Given the description of an element on the screen output the (x, y) to click on. 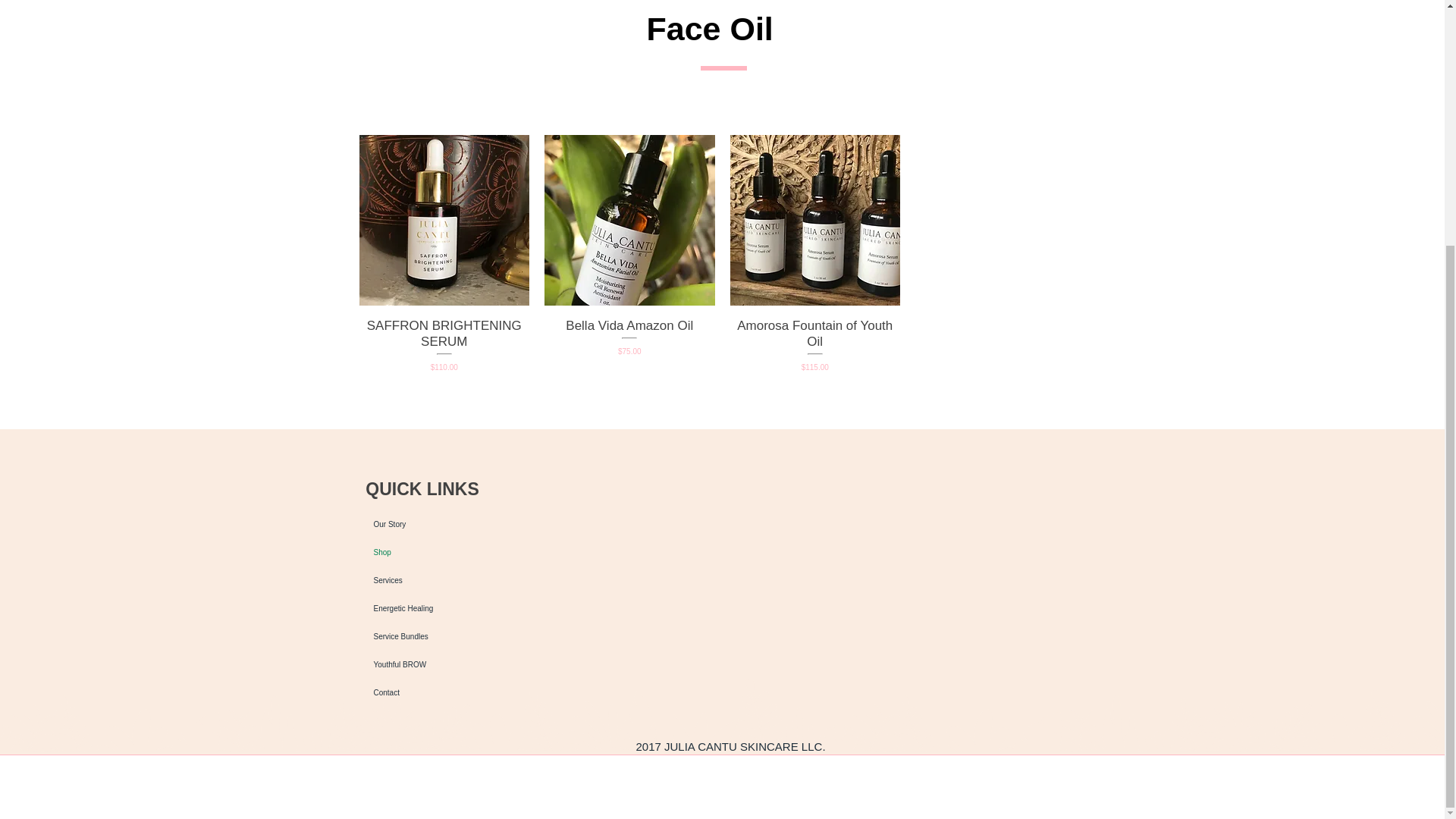
Shop (418, 552)
